Given the description of an element on the screen output the (x, y) to click on. 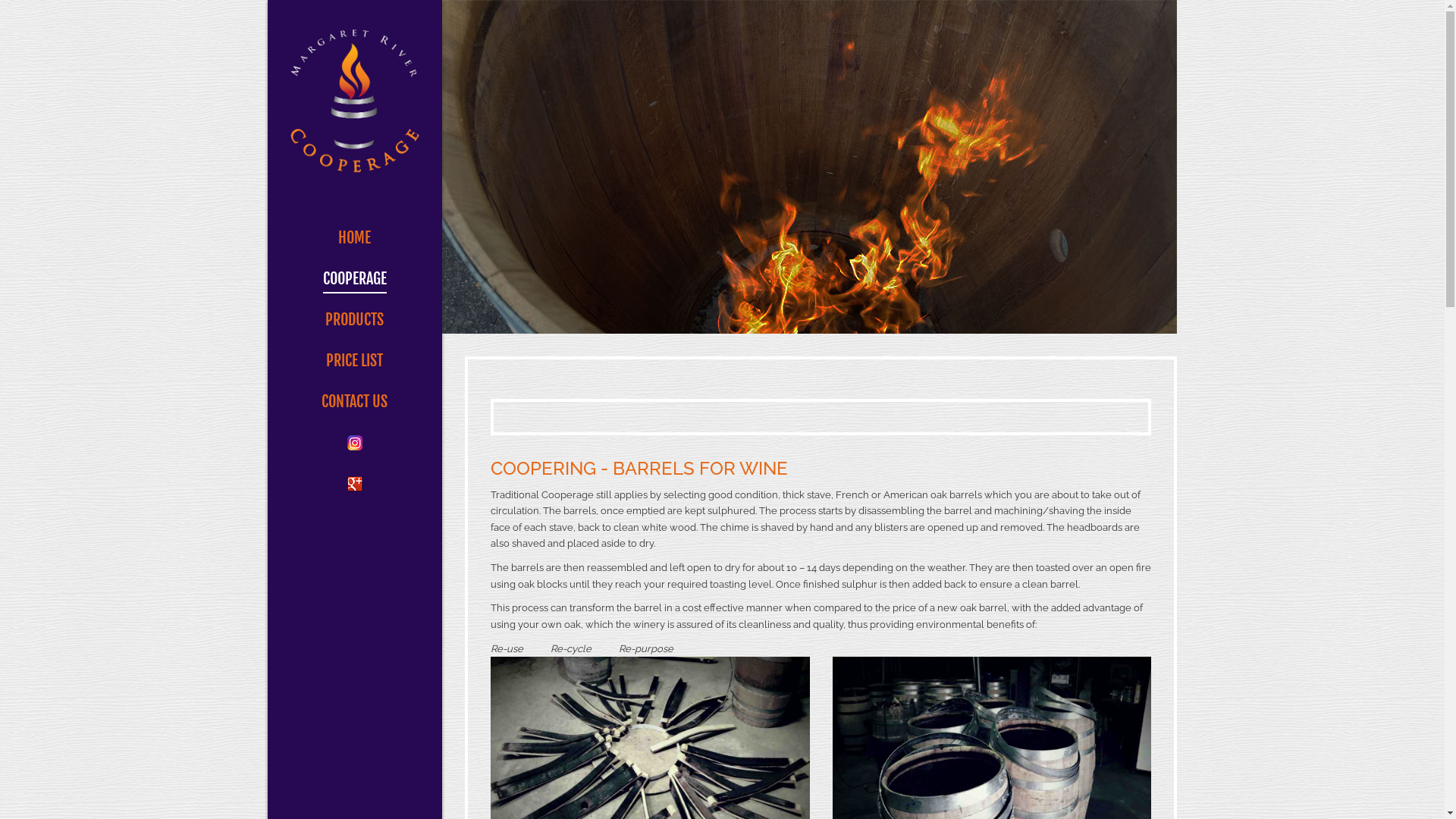
CONTACT US Element type: text (354, 401)
COOPERAGE Element type: text (354, 278)
HOME Element type: text (354, 237)
PRICE LIST Element type: text (354, 360)
PRODUCTS Element type: text (354, 319)
